Given the description of an element on the screen output the (x, y) to click on. 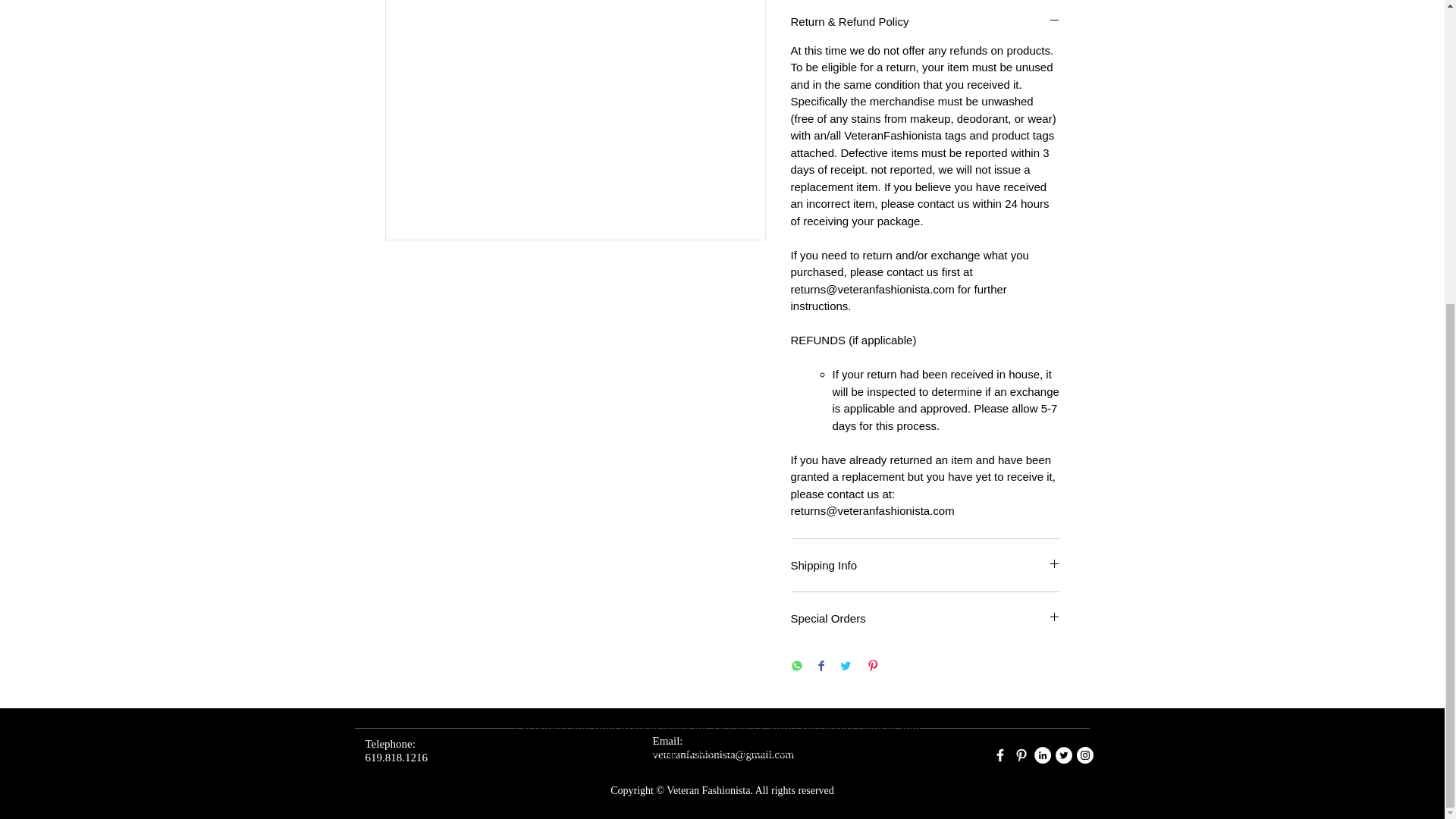
Shipping Info (924, 565)
Special Orders (924, 618)
